Given the description of an element on the screen output the (x, y) to click on. 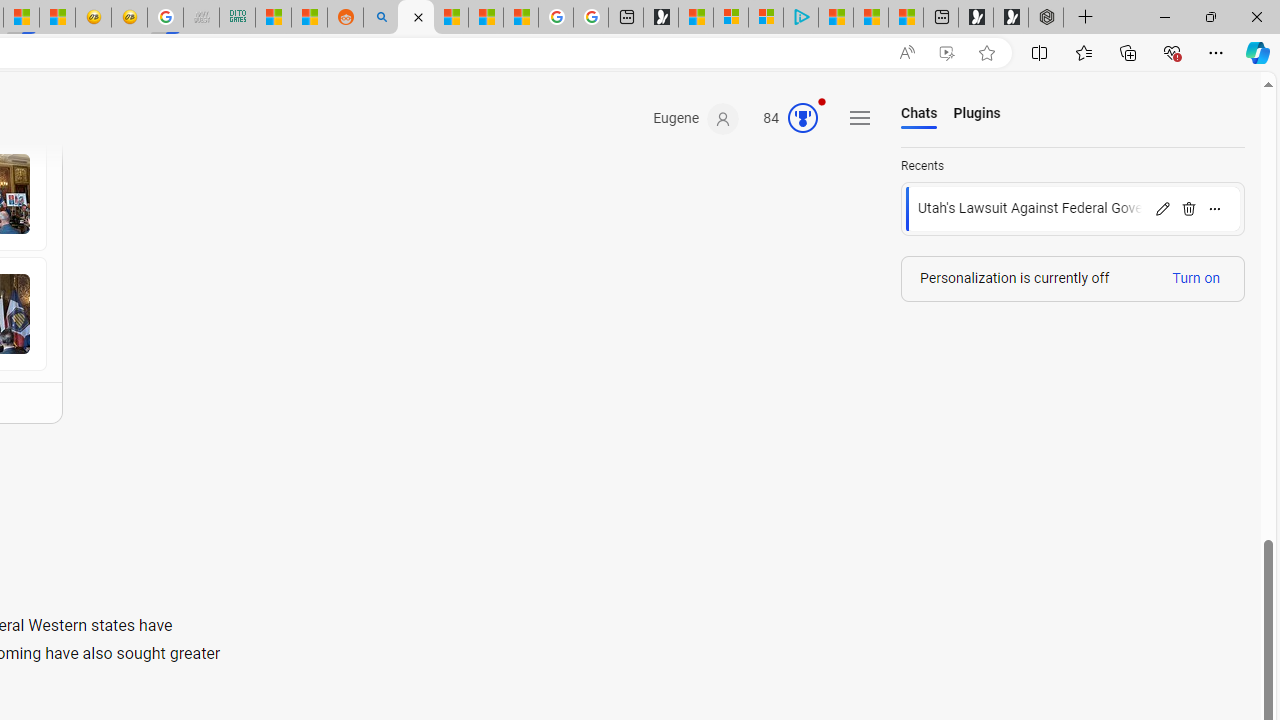
Microsoft Rewards 84 (783, 119)
Settings and quick links (859, 117)
AutomationID: rh_meter (803, 117)
